Given the description of an element on the screen output the (x, y) to click on. 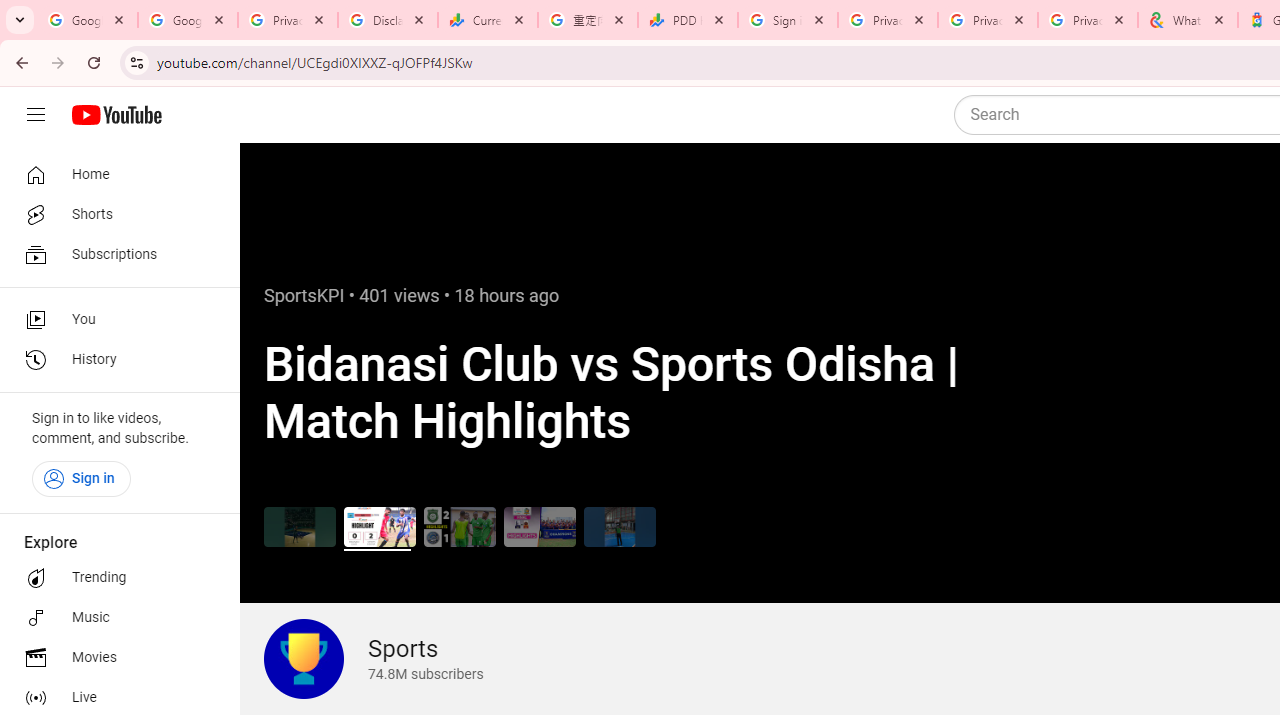
Currencies - Google Finance (487, 20)
PDD Holdings Inc - ADR (PDD) Price & News - Google Finance (687, 20)
Bidanasi Club vs Sports Odisha | Match Highlights (380, 526)
Movies (113, 657)
Music (113, 617)
